Given the description of an element on the screen output the (x, y) to click on. 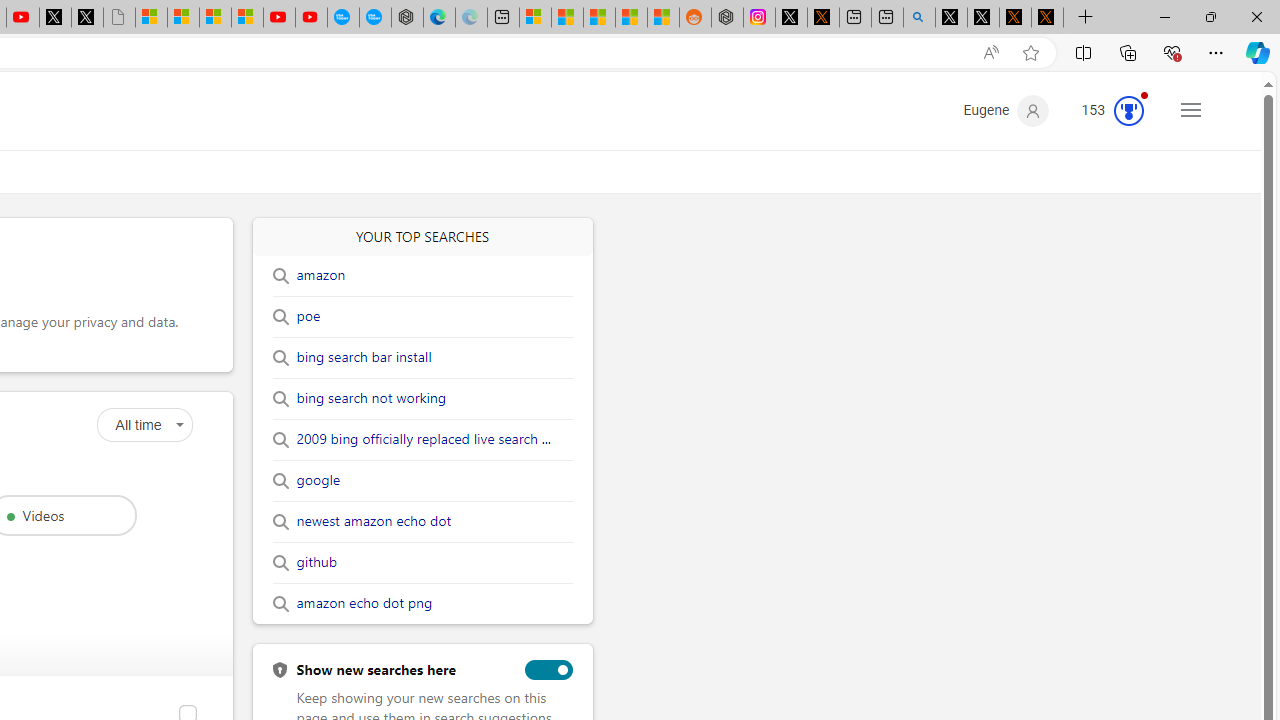
amazon echo dot png (363, 604)
Shanghai, China Weather trends | Microsoft Weather (663, 17)
Gloom - YouTube (279, 17)
poe (308, 316)
Class: dropdown__chevron (179, 425)
Selected time filter is All time (144, 425)
Settings and quick links (1190, 109)
